Given the description of an element on the screen output the (x, y) to click on. 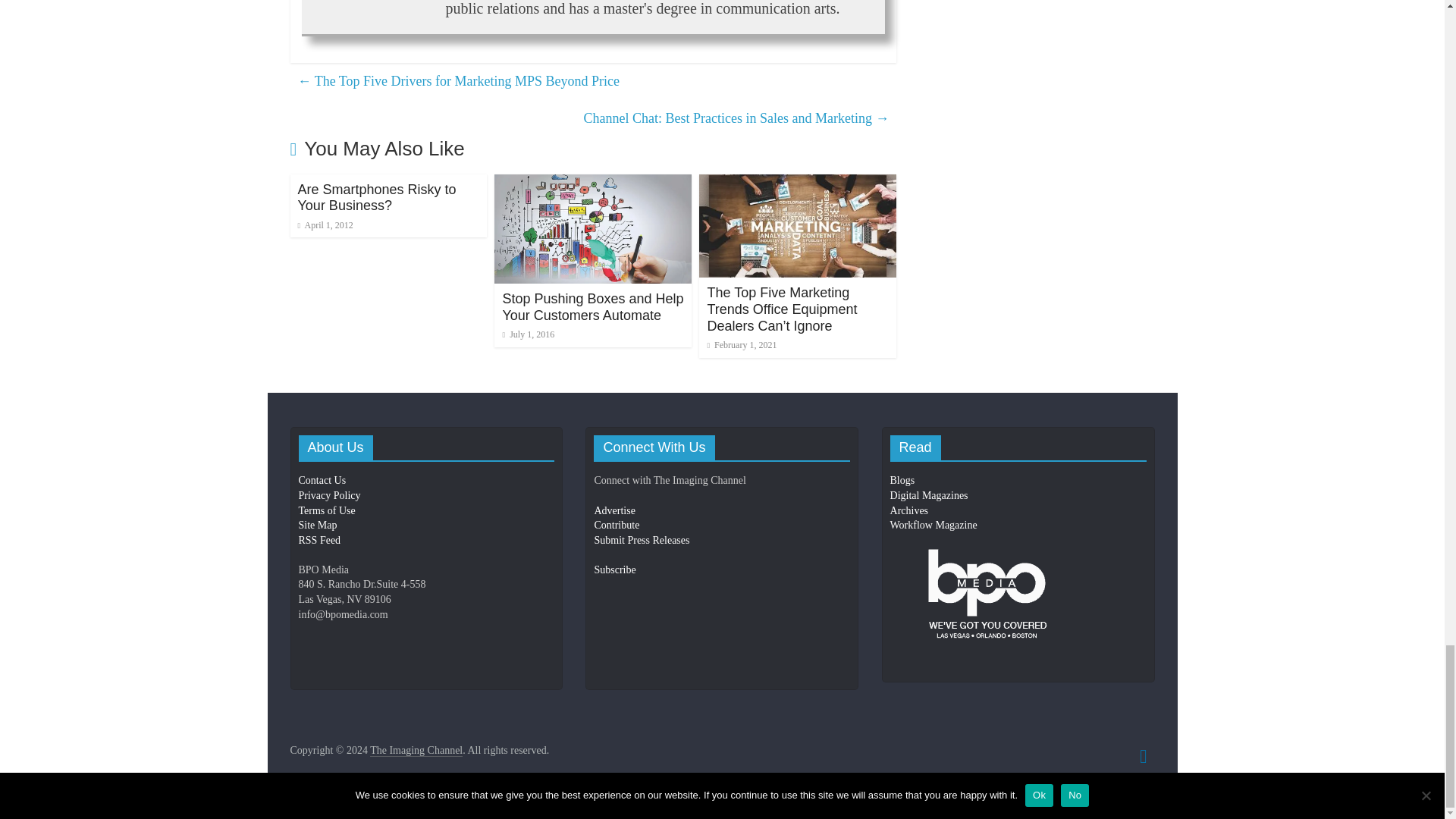
Stop Pushing Boxes and Help Your Customers Automate (592, 306)
10:51 am (324, 225)
Stop Pushing Boxes and Help Your Customers Automate (593, 183)
Are Smartphones Risky to Your Business? (376, 197)
1:51 pm (528, 334)
